Given the description of an element on the screen output the (x, y) to click on. 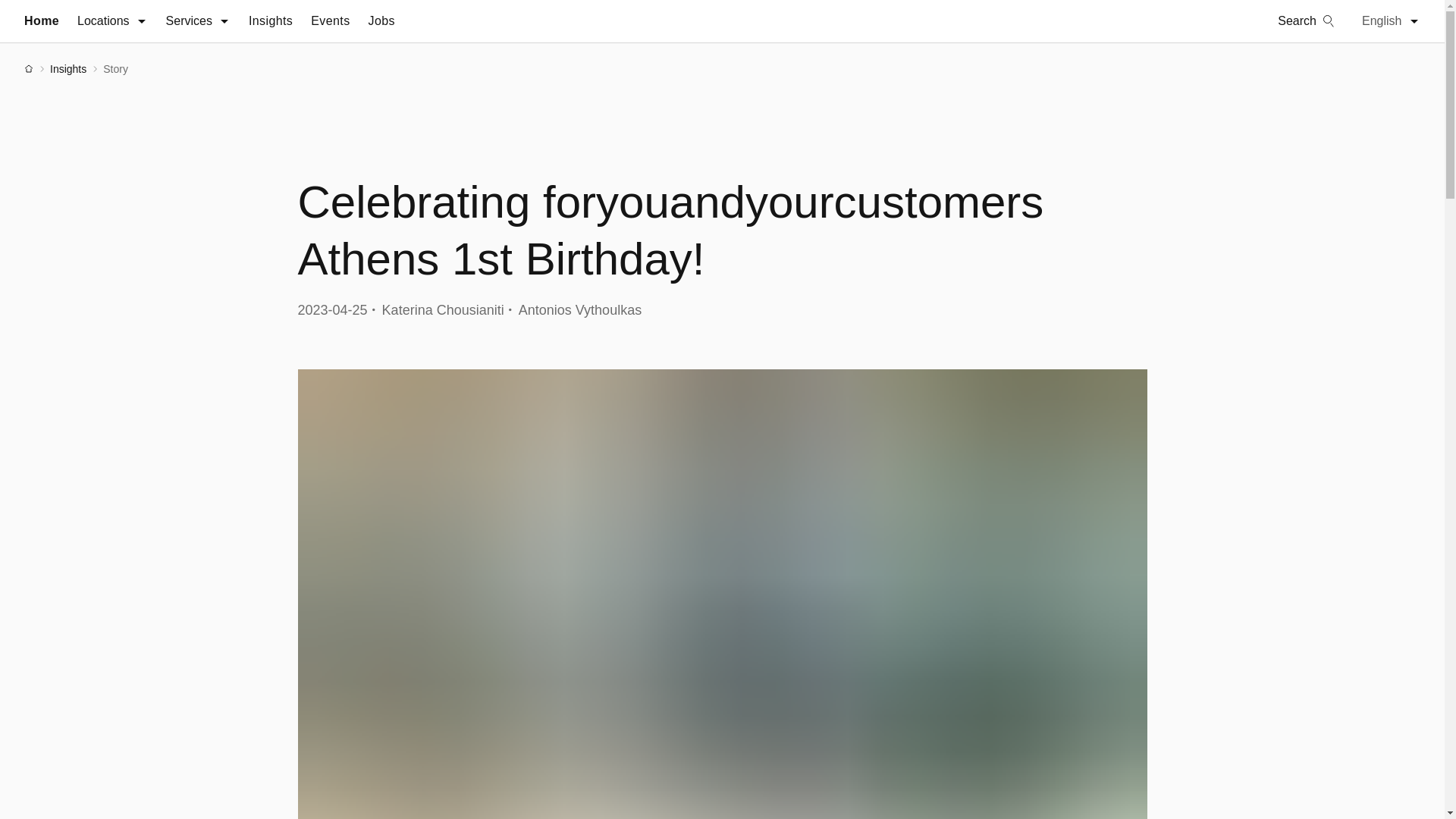
Home (41, 21)
Insights (270, 21)
Events (330, 21)
Locations (112, 21)
Insights (67, 68)
Jobs (381, 21)
Search (1306, 21)
Services (197, 21)
